Given the description of an element on the screen output the (x, y) to click on. 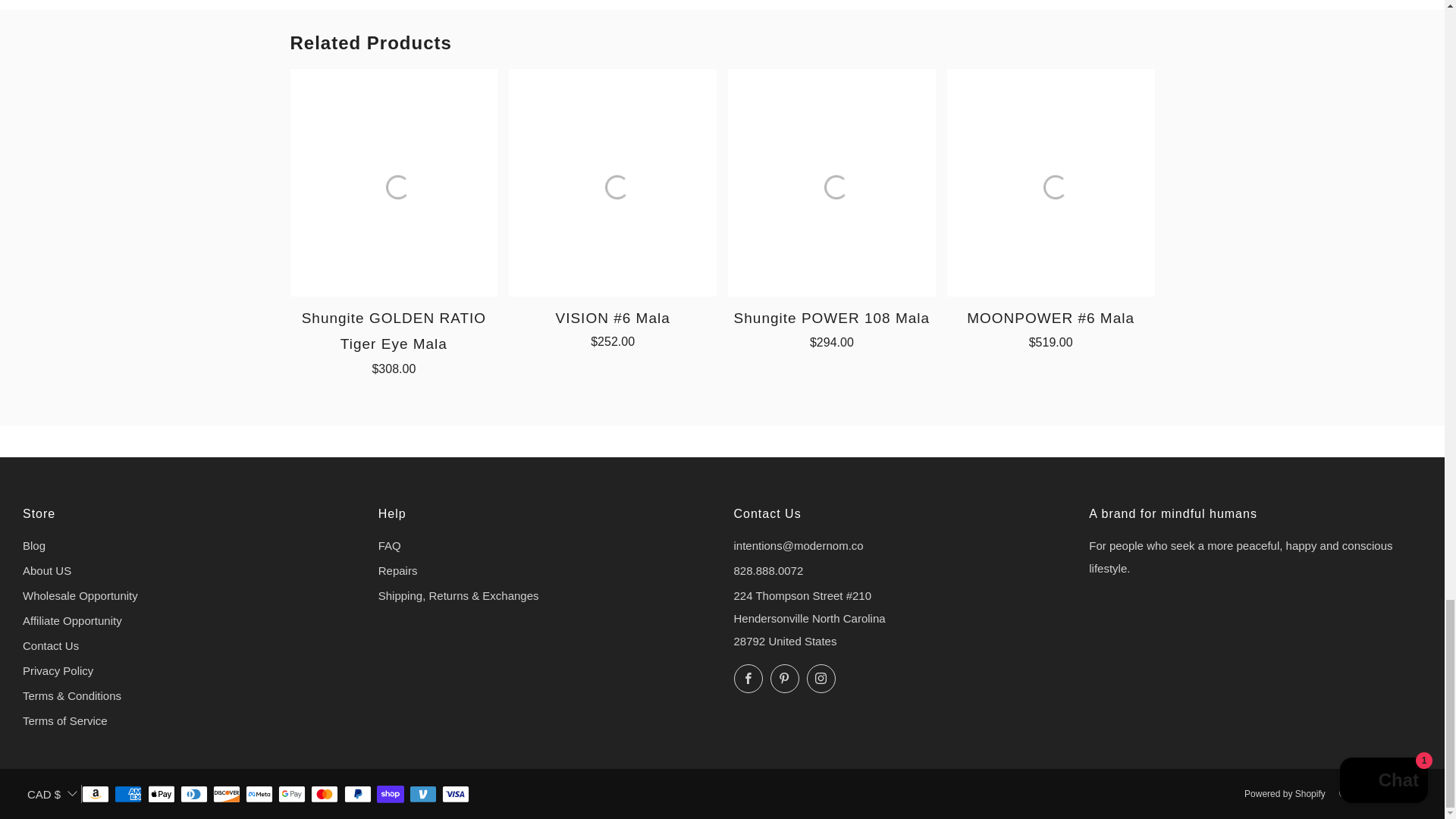
Shungite POWER 108 Mala (832, 182)
Discover (226, 794)
Apple Pay (161, 794)
Mastercard (324, 794)
Shungite POWER 108 Mala (832, 326)
Visa (455, 794)
Shungite GOLDEN RATIO Tiger Eye Mala (393, 182)
Meta Pay (259, 794)
Google Pay (291, 794)
Shop Pay (390, 794)
Shungite GOLDEN RATIO Tiger Eye Mala (393, 339)
PayPal (357, 794)
Venmo (422, 794)
Amazon (95, 794)
Diners Club (194, 794)
